Given the description of an element on the screen output the (x, y) to click on. 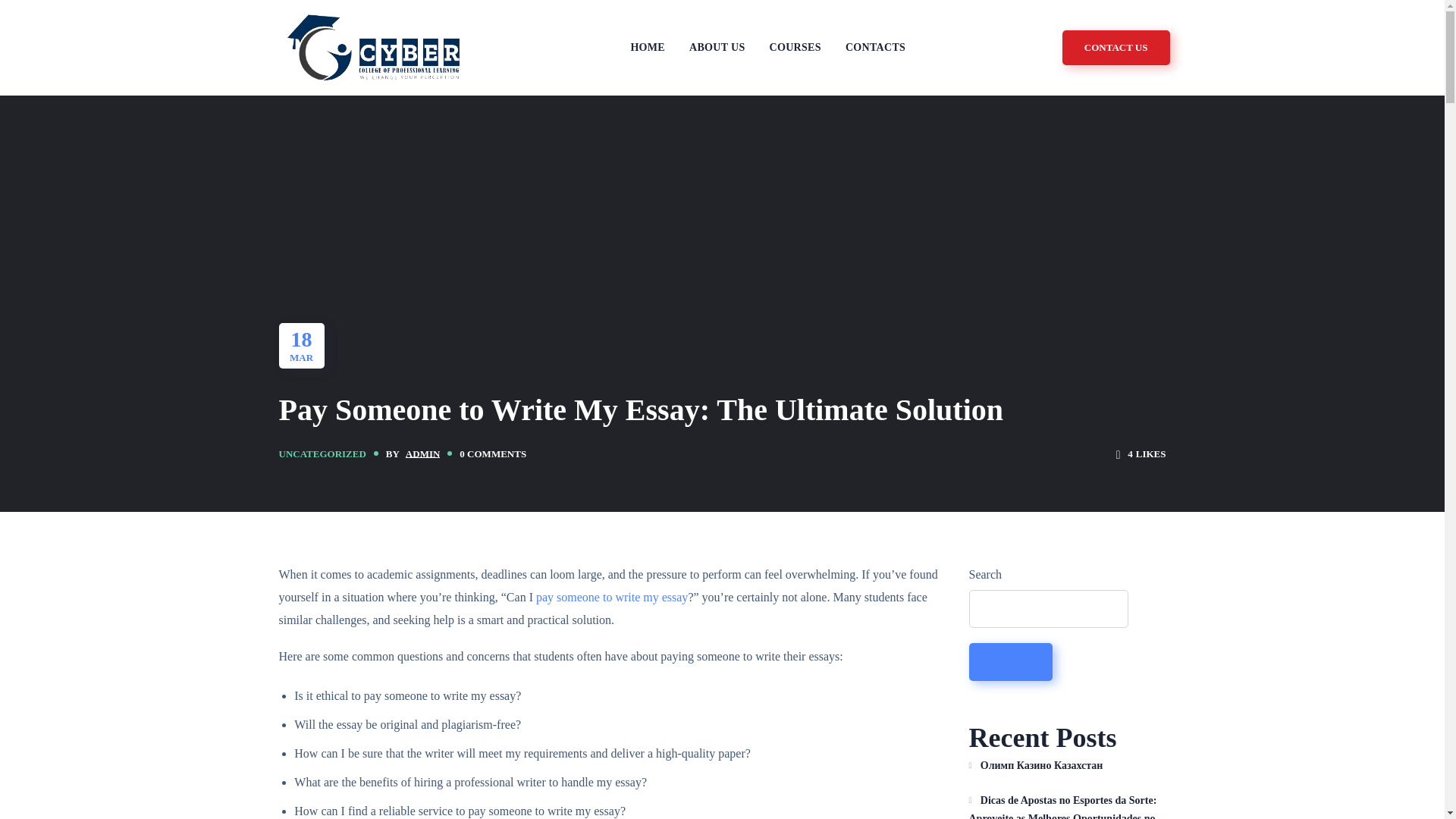
CONTACT US (1116, 47)
0 COMMENTS (492, 454)
UNCATEGORIZED (322, 453)
CONTACTS (874, 47)
COURSES (794, 47)
ABOUT US (717, 47)
Like (1141, 453)
Leave a reply (492, 454)
pay someone to write my essay (611, 596)
4 LIKES (1141, 453)
